Given the description of an element on the screen output the (x, y) to click on. 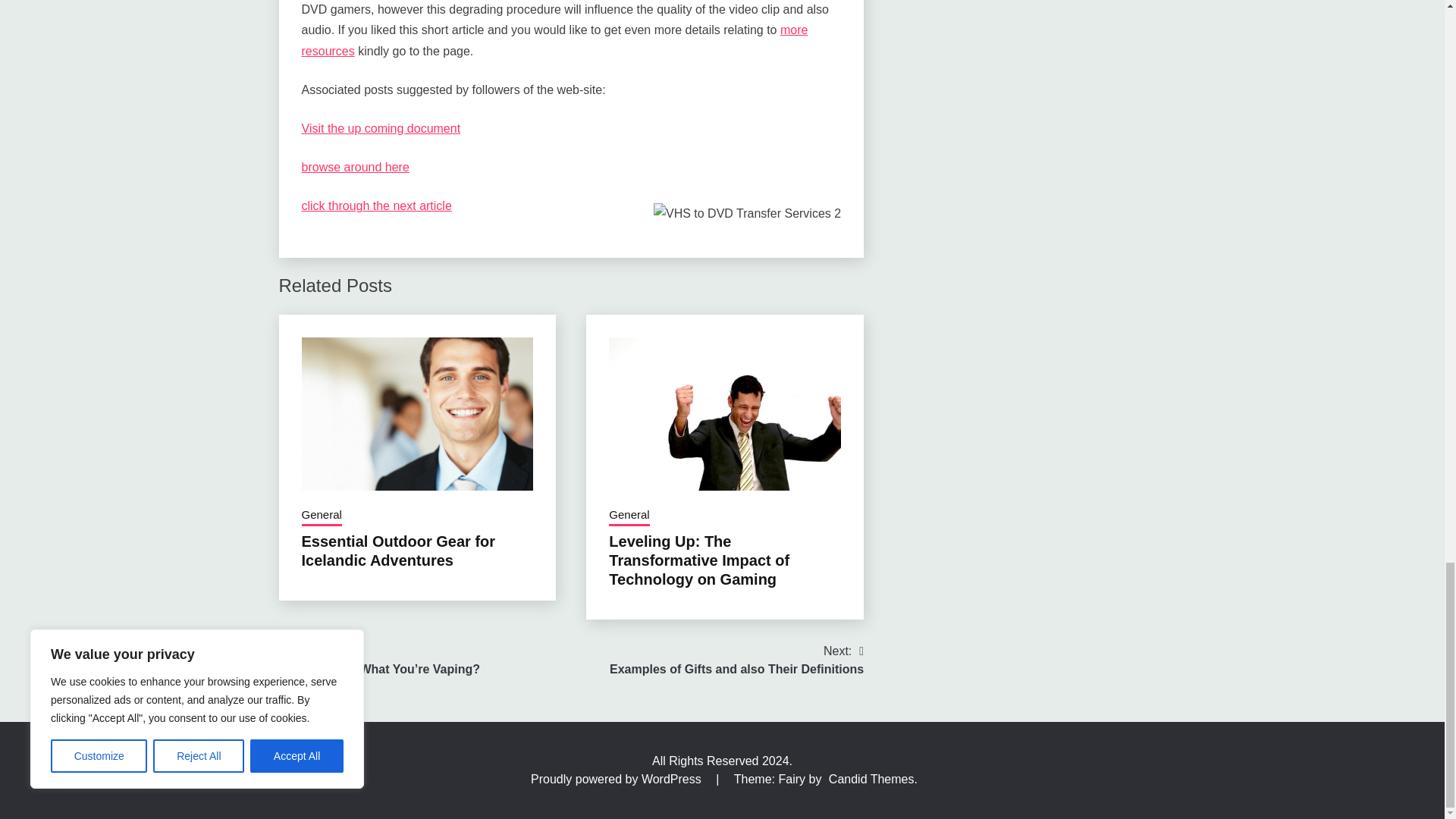
more resources (554, 39)
Visit the up coming document (381, 128)
click through the next article (376, 205)
browse around here (355, 166)
